Given the description of an element on the screen output the (x, y) to click on. 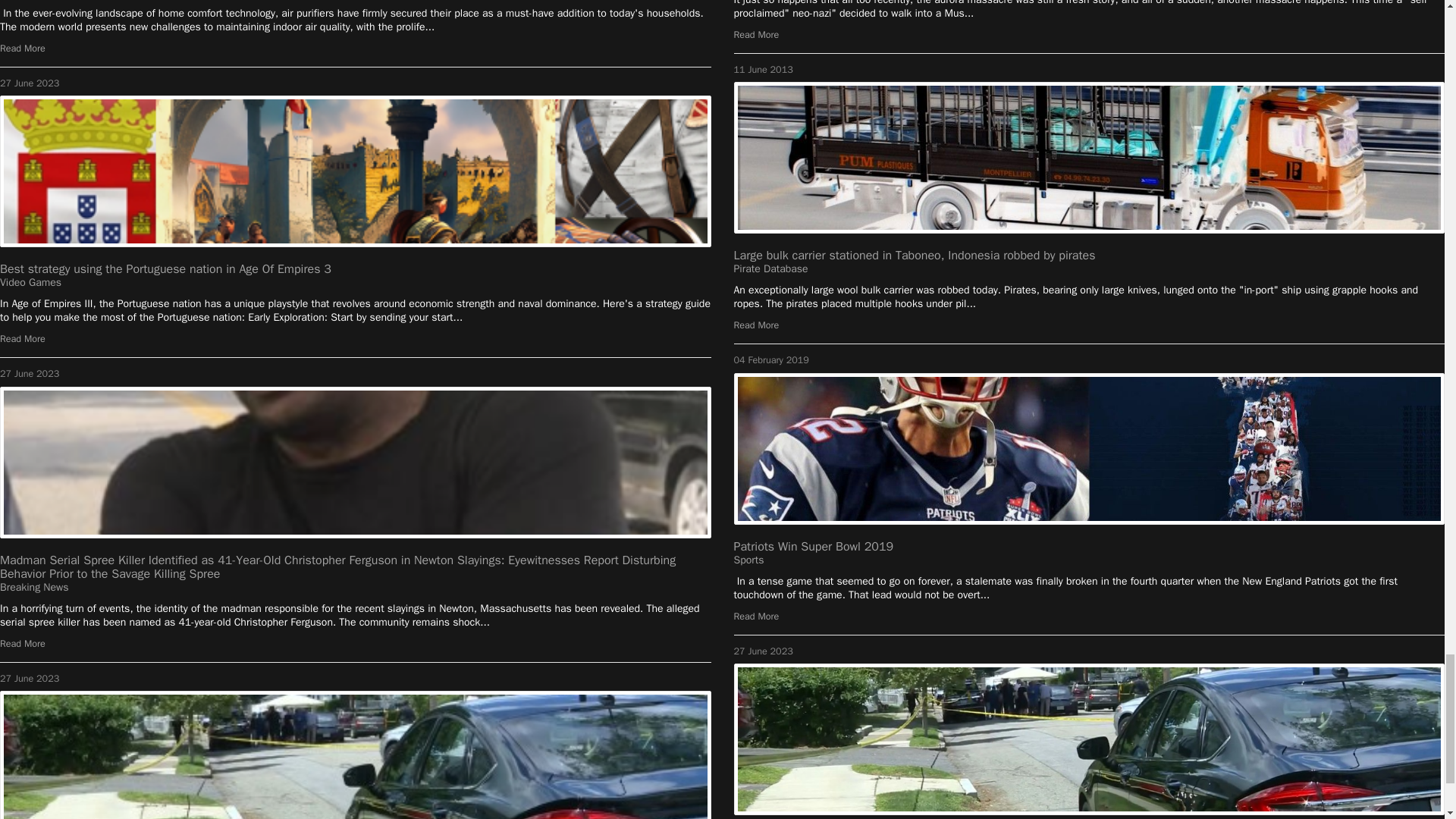
Newton Triple Homocide (355, 755)
Chris Ferguson  (355, 462)
Portugal Strategy (355, 171)
